Given the description of an element on the screen output the (x, y) to click on. 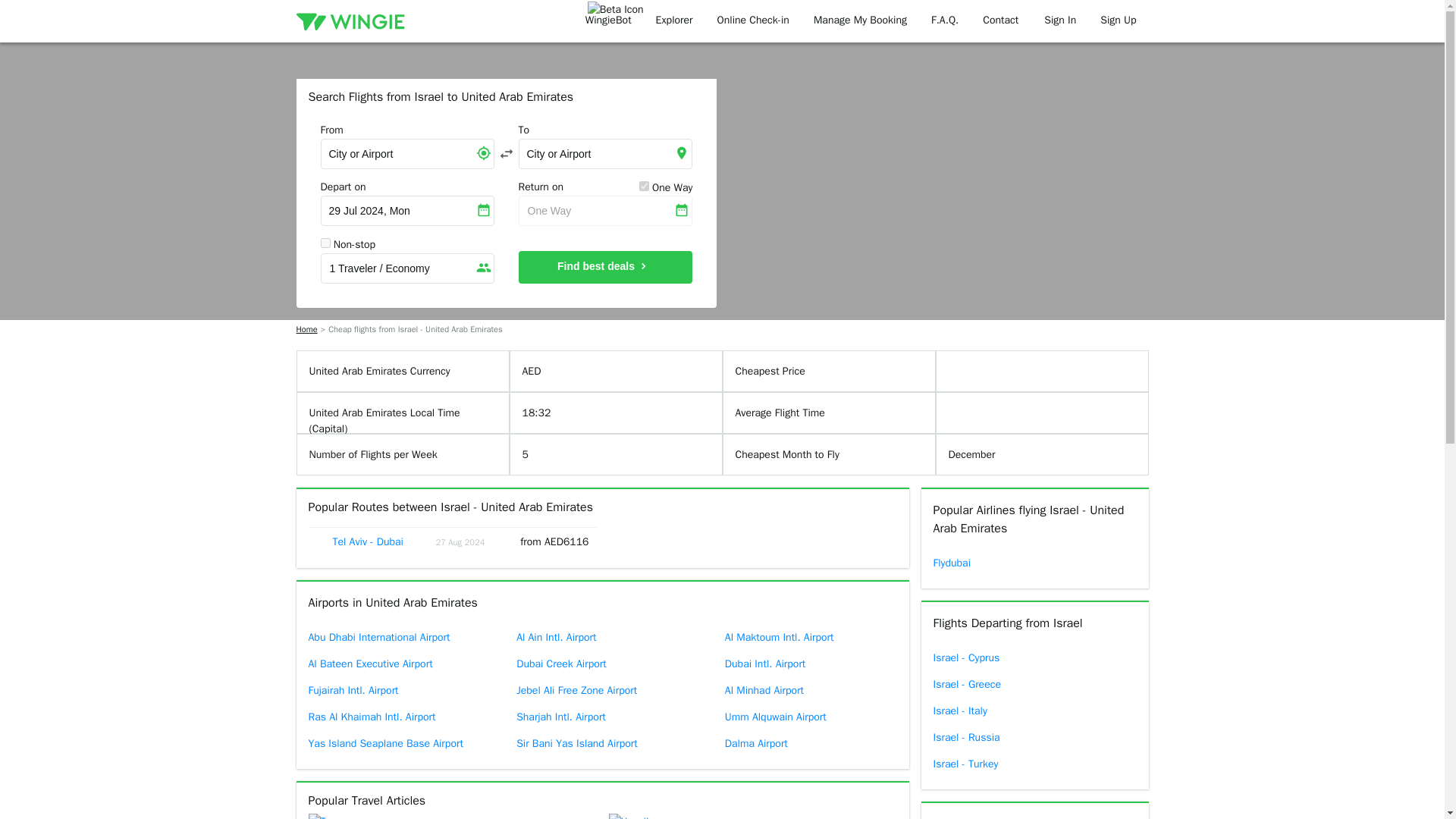
F.A.Q. (944, 21)
WingieBot (608, 21)
Sign In (1059, 21)
One Way (605, 210)
Flydubai (1034, 562)
Israel - Cyprus (1034, 657)
Find best deals (605, 266)
Al Ain Intl. Airport (601, 637)
Online Check-in (753, 21)
on (644, 185)
Explorer (673, 21)
Al Bateen Executive Airport (393, 663)
Israel - Russia (1034, 737)
Israel - Turkey (1034, 764)
Manage My Booking (860, 21)
